Given the description of an element on the screen output the (x, y) to click on. 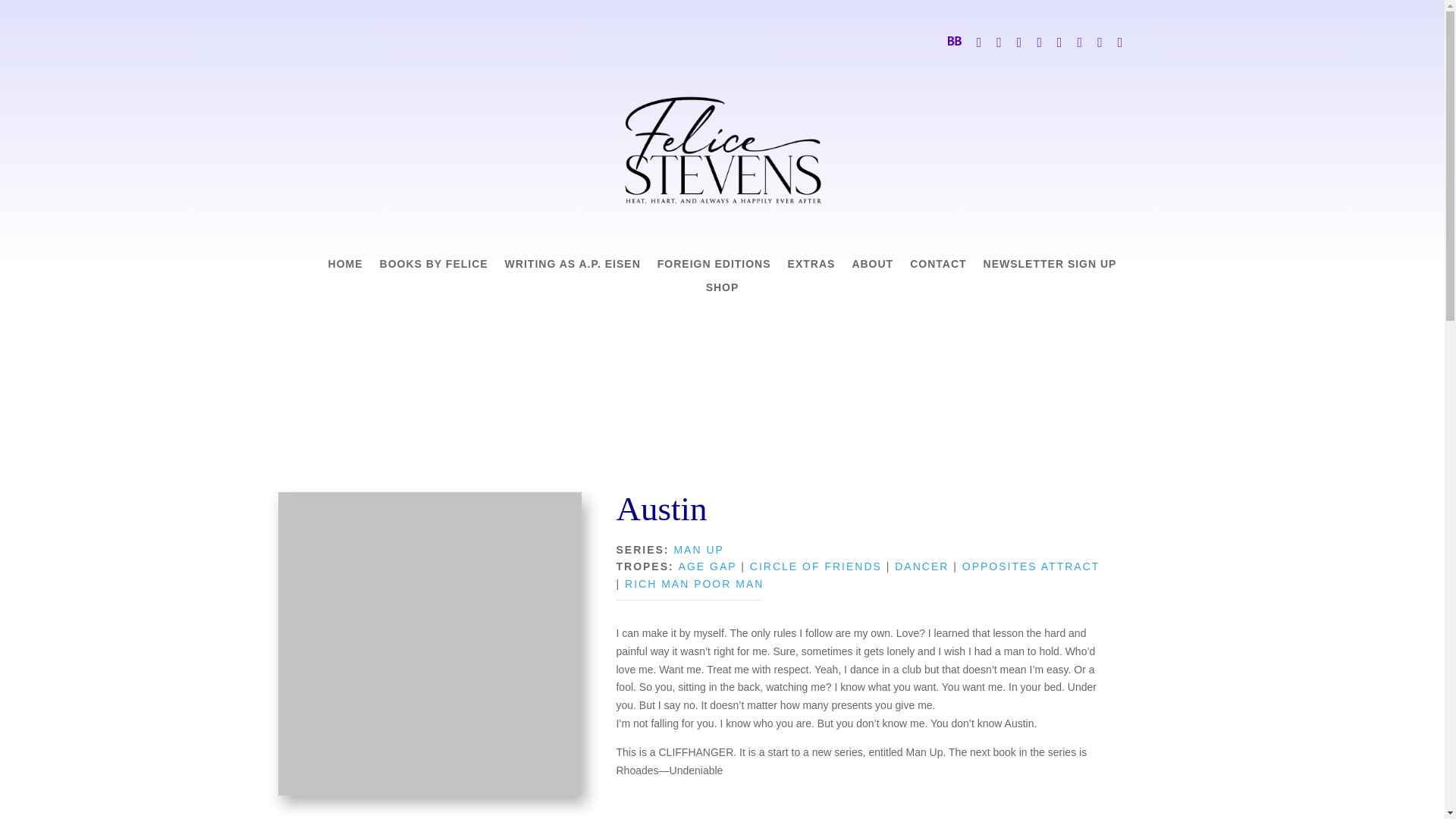
WRITING AS A.P. EISEN (572, 267)
HOME (345, 267)
EXTRAS (811, 267)
ABOUT (872, 267)
Austin (429, 643)
SHOP (722, 291)
FOREIGN EDITIONS (714, 267)
BOOKS BY FELICE (433, 267)
CONTACT (938, 267)
OPPOSITES ATTRACT (1030, 566)
